Given the description of an element on the screen output the (x, y) to click on. 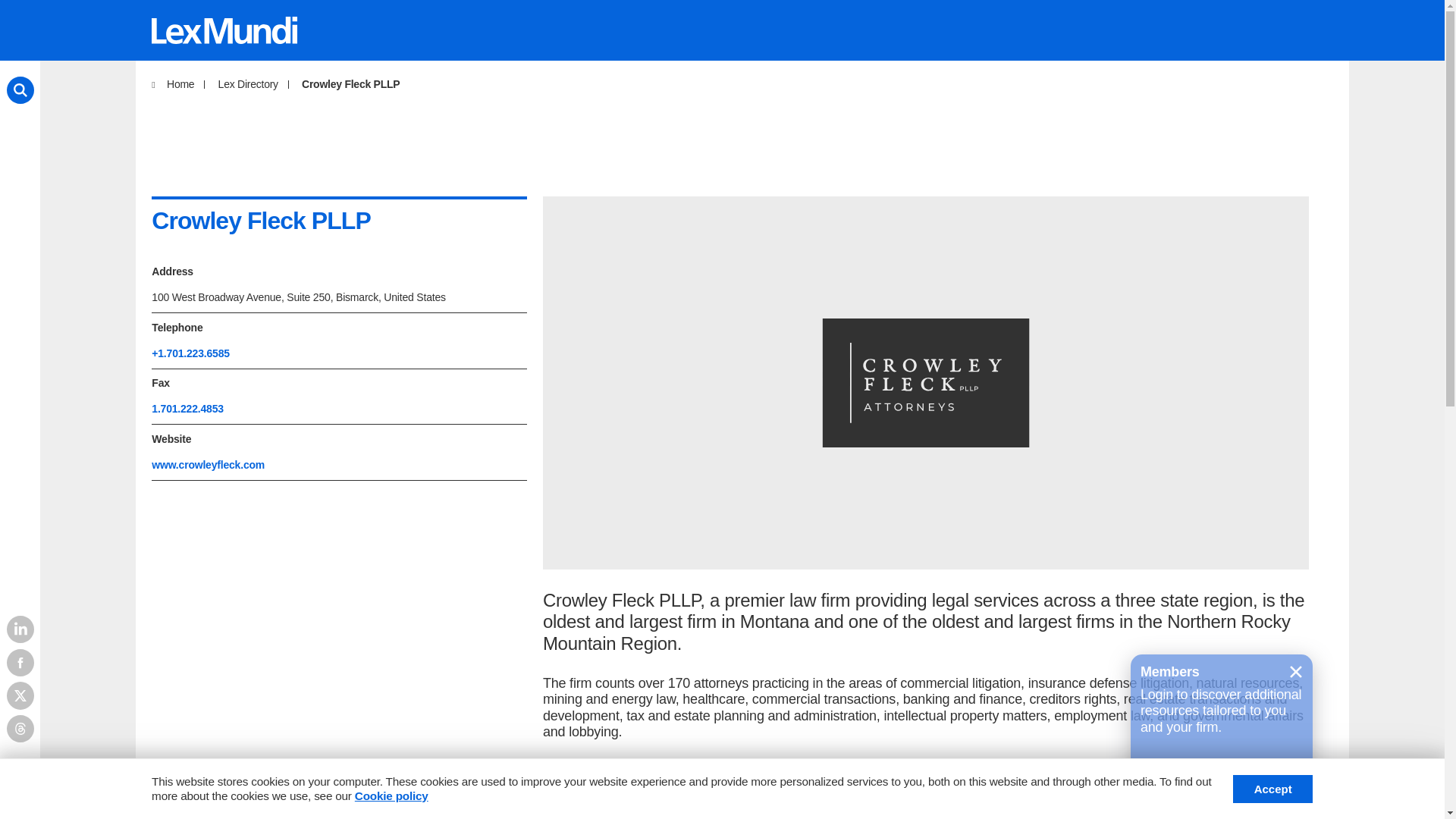
Member Login (1253, 788)
Resources (678, 788)
Lex Directory (434, 788)
About (488, 808)
Lex Mundi (184, 788)
Global Reach (560, 788)
Member Firms (304, 788)
Contact (855, 788)
Cookie policy (391, 795)
Accept (1273, 788)
Events (772, 788)
